Given the description of an element on the screen output the (x, y) to click on. 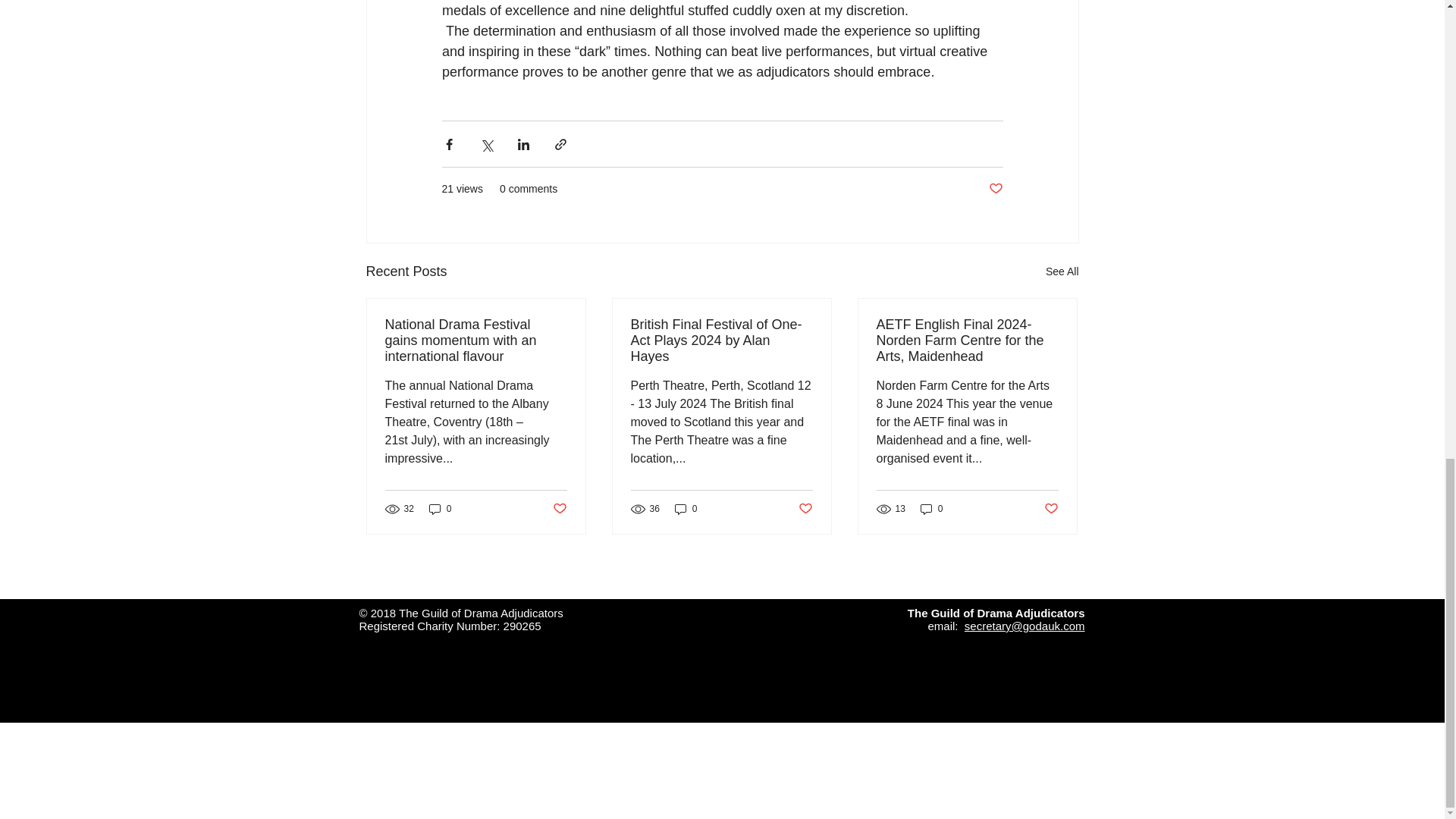
0 (685, 508)
See All (1061, 271)
Post not marked as liked (804, 508)
0 (931, 508)
Post not marked as liked (1050, 508)
Webmaster Login (406, 766)
Post not marked as liked (995, 188)
British Final Festival of One-Act Plays 2024 by Alan Hayes (721, 340)
